Given the description of an element on the screen output the (x, y) to click on. 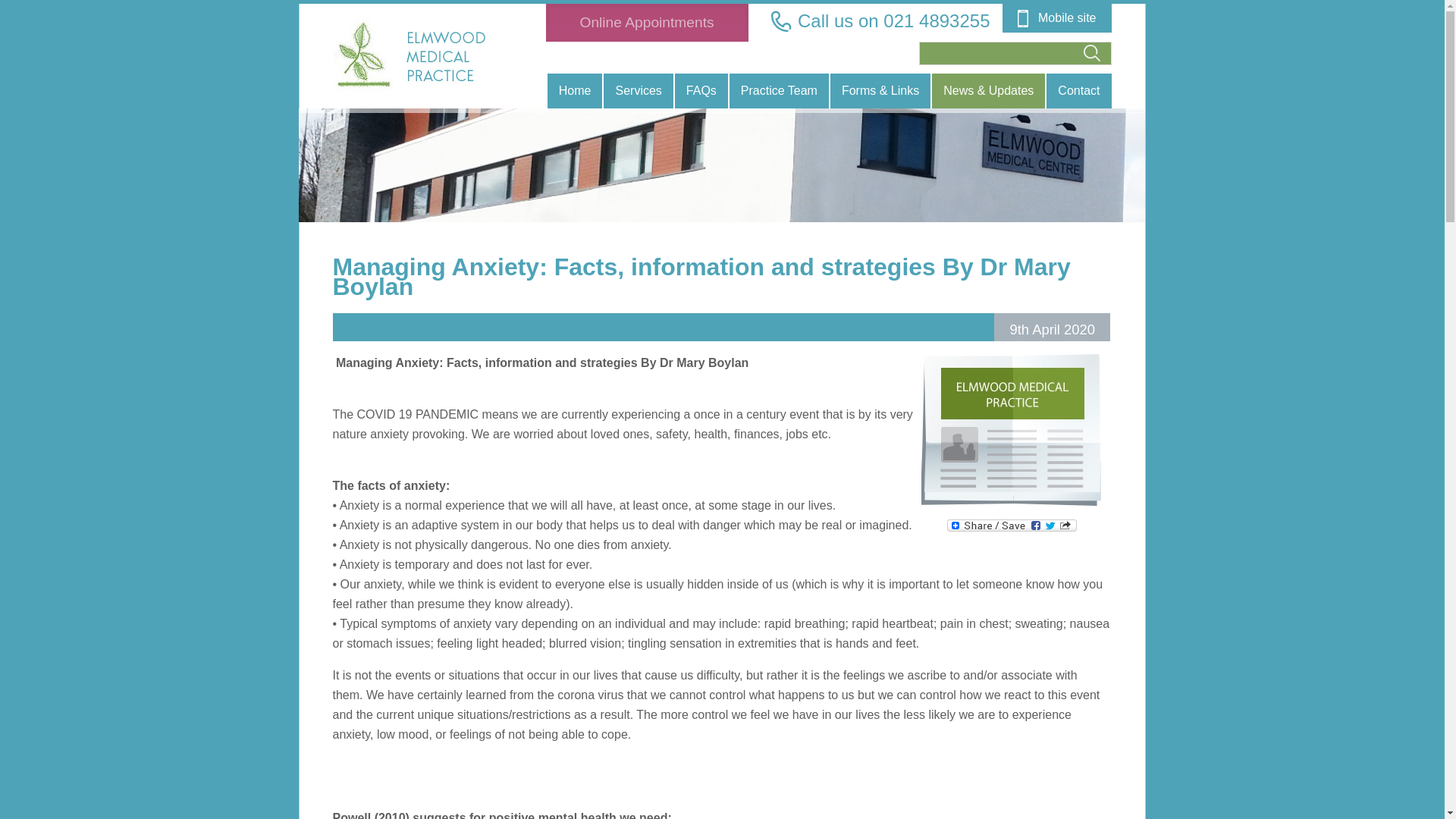
Contact (1078, 90)
Services (638, 90)
FAQs (701, 90)
Practice Team (778, 90)
  Mobile site (1057, 18)
Home (574, 90)
Online Appointments (646, 22)
